Given the description of an element on the screen output the (x, y) to click on. 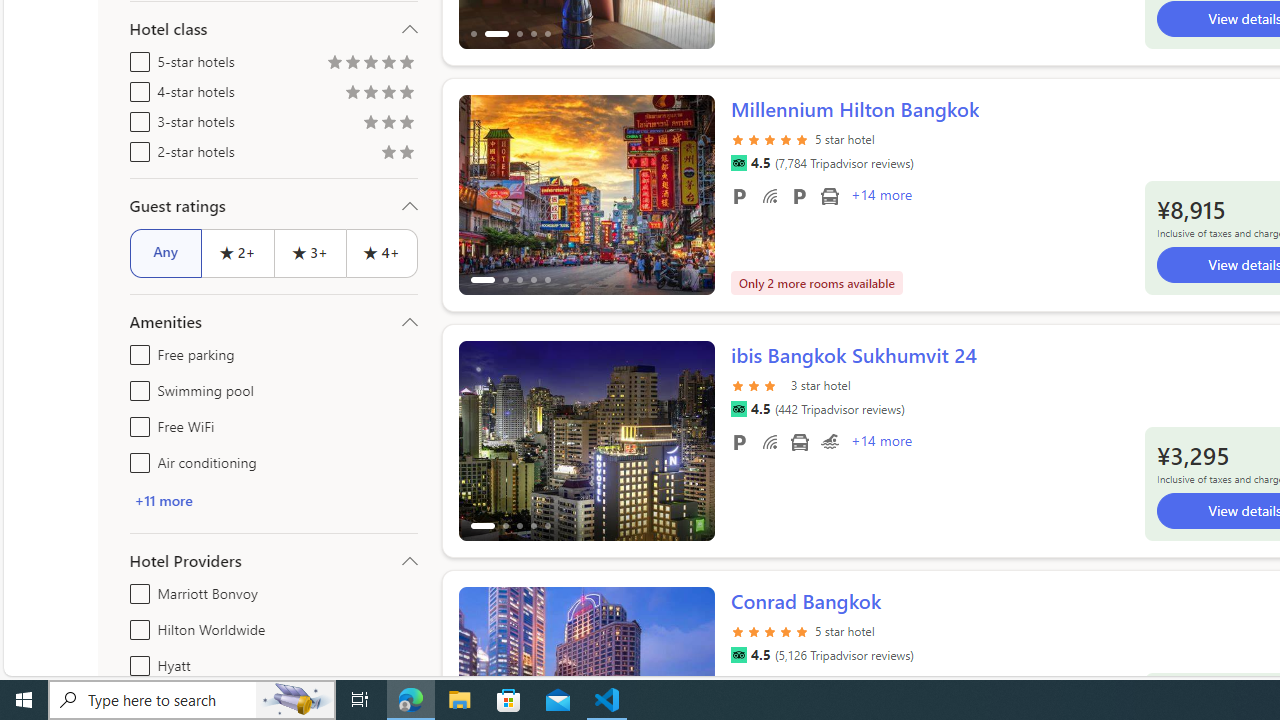
Marriott Bonvoy (136, 589)
+11 more (273, 500)
